Given the description of an element on the screen output the (x, y) to click on. 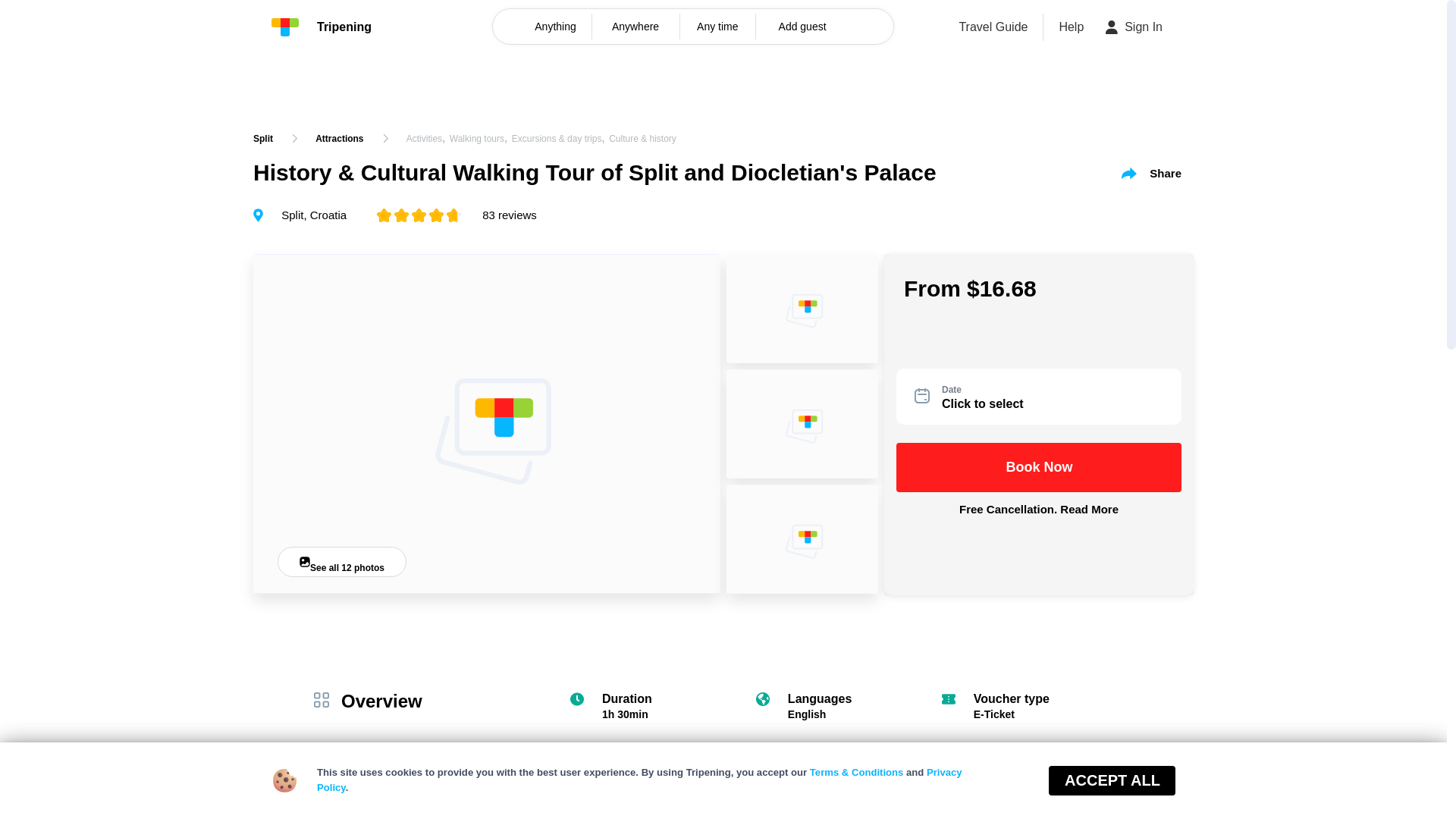
BOOK NOW (1354, 781)
Attractions (338, 138)
Share (1151, 172)
Tripening (320, 27)
Book Now (1038, 467)
Privacy Policy (639, 779)
Read More (1088, 508)
Travel Guide (992, 26)
Book Now (1112, 781)
Walking tours (476, 138)
